Given the description of an element on the screen output the (x, y) to click on. 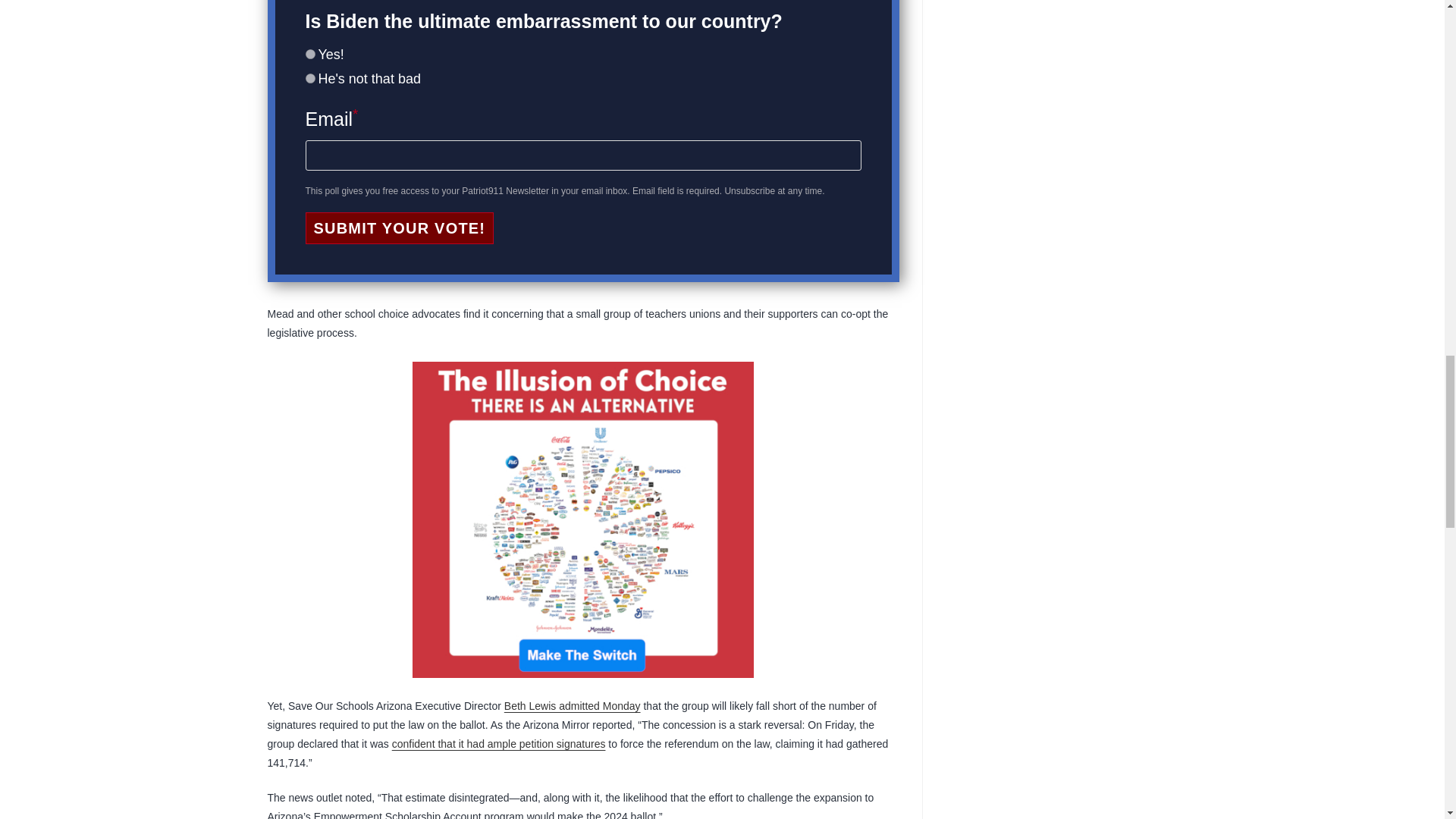
conservative (309, 53)
liberal (309, 78)
